Given the description of an element on the screen output the (x, y) to click on. 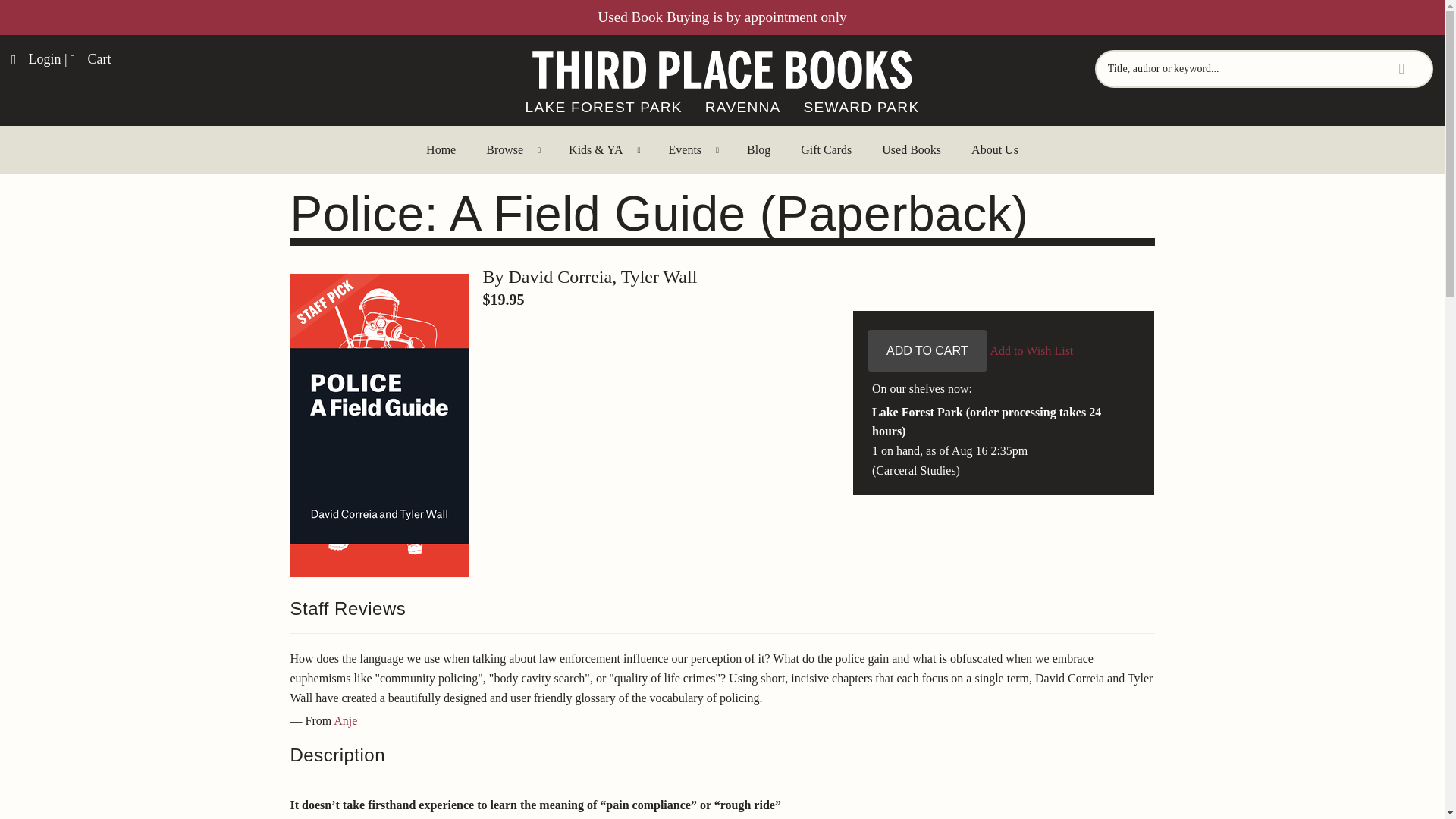
About Us (994, 150)
 Login (36, 58)
Used Books (911, 150)
Events (692, 150)
LAKE FOREST PARK (603, 107)
Used Book Buying is by appointment only (720, 17)
Tyler Wall (659, 276)
 Cart (90, 58)
Title, author or keyword... (1263, 68)
